Given the description of an element on the screen output the (x, y) to click on. 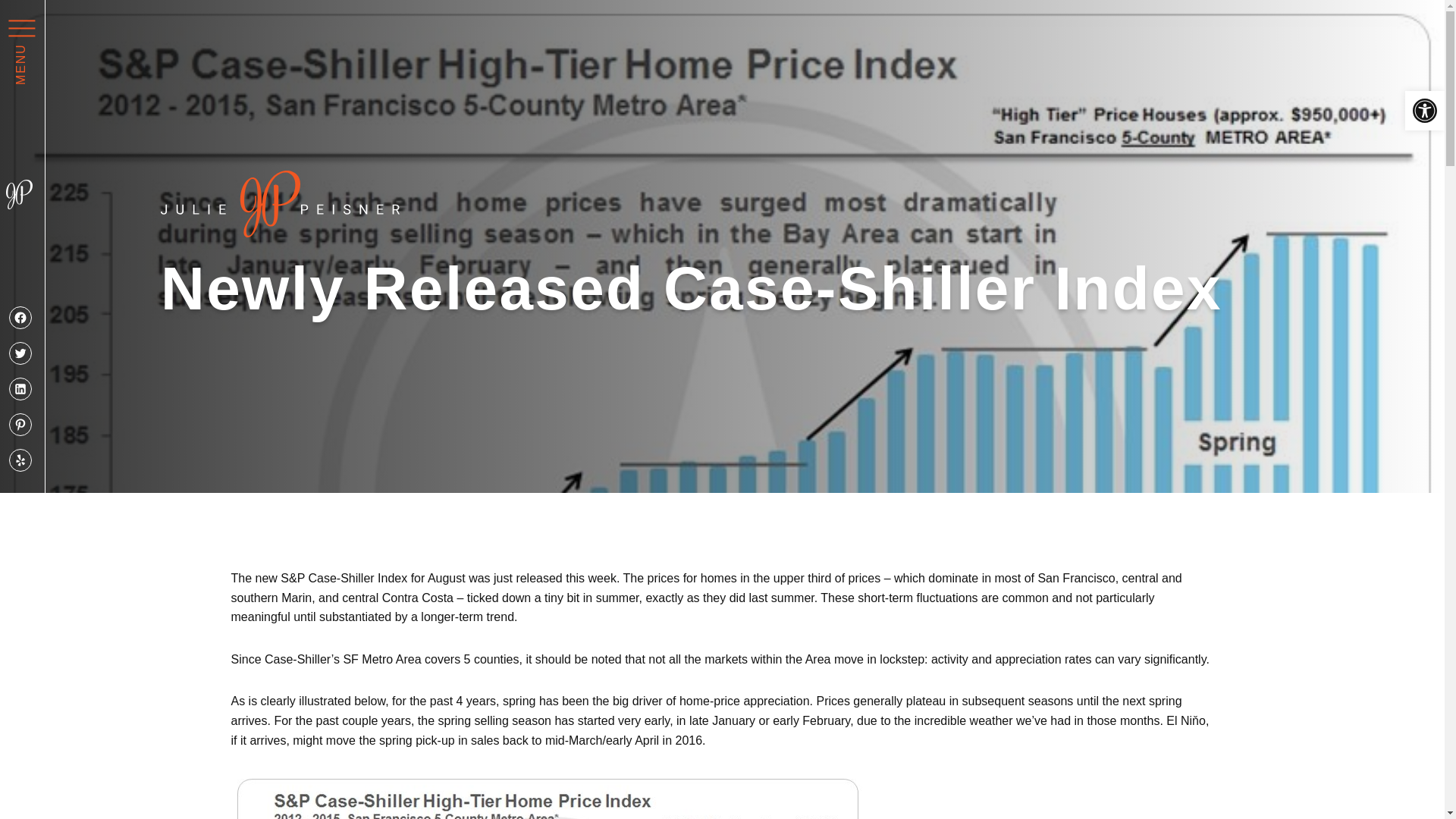
facebook (20, 317)
MENU (46, 21)
pinterest (20, 424)
yelp (20, 459)
linkedin (20, 388)
twitter (20, 353)
Accessibility Tools (1424, 110)
